Given the description of an element on the screen output the (x, y) to click on. 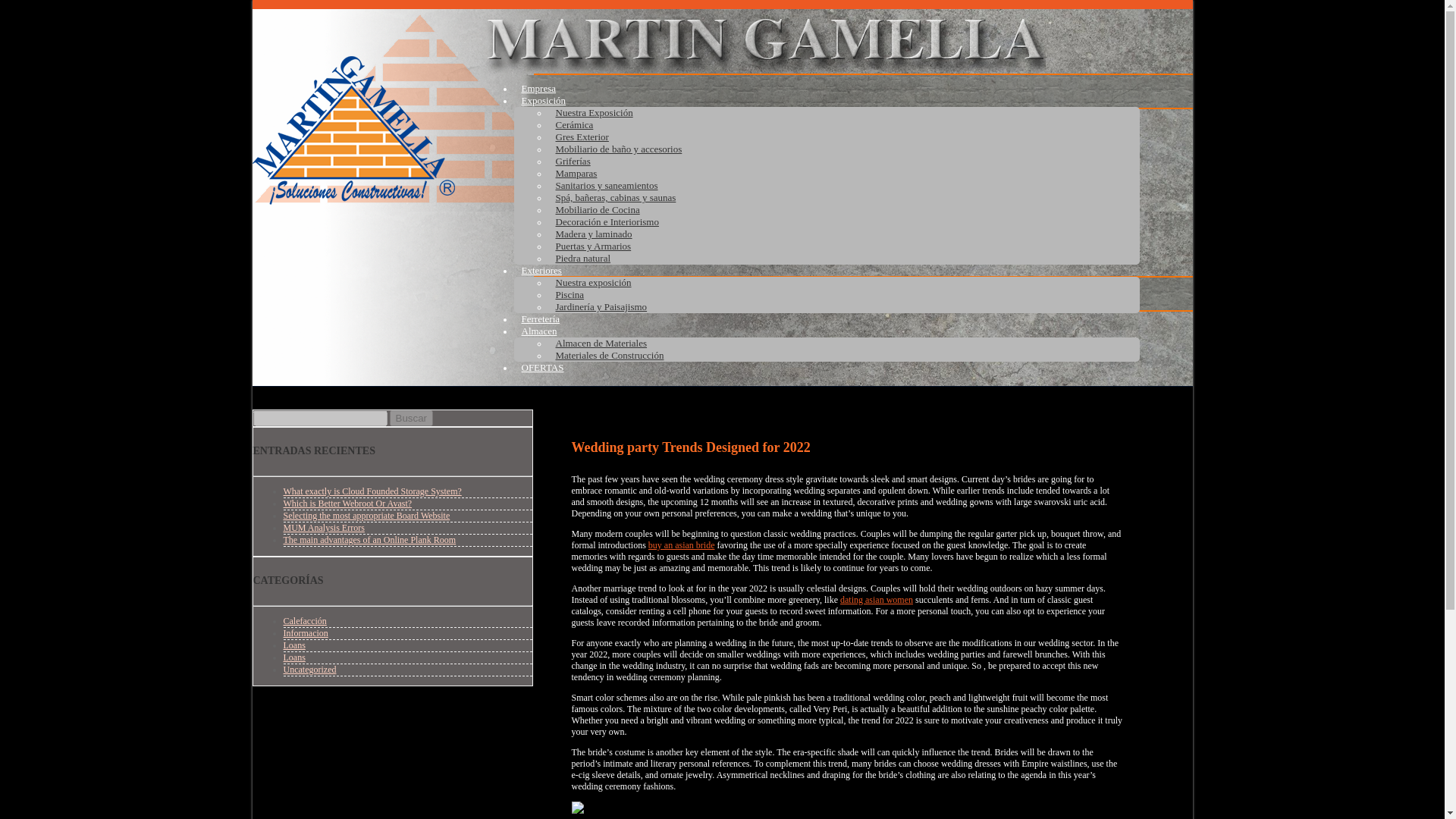
Gres Exterior (581, 136)
Almacen (538, 330)
Piscina (569, 294)
Loans (294, 656)
Mobiliario de Cocina (596, 209)
MUM Analysis Errors (324, 527)
dating asian women (876, 599)
Informacion (306, 633)
The main advantages of an Online Plank Room (370, 539)
Almacen de Materiales (600, 342)
